Given the description of an element on the screen output the (x, y) to click on. 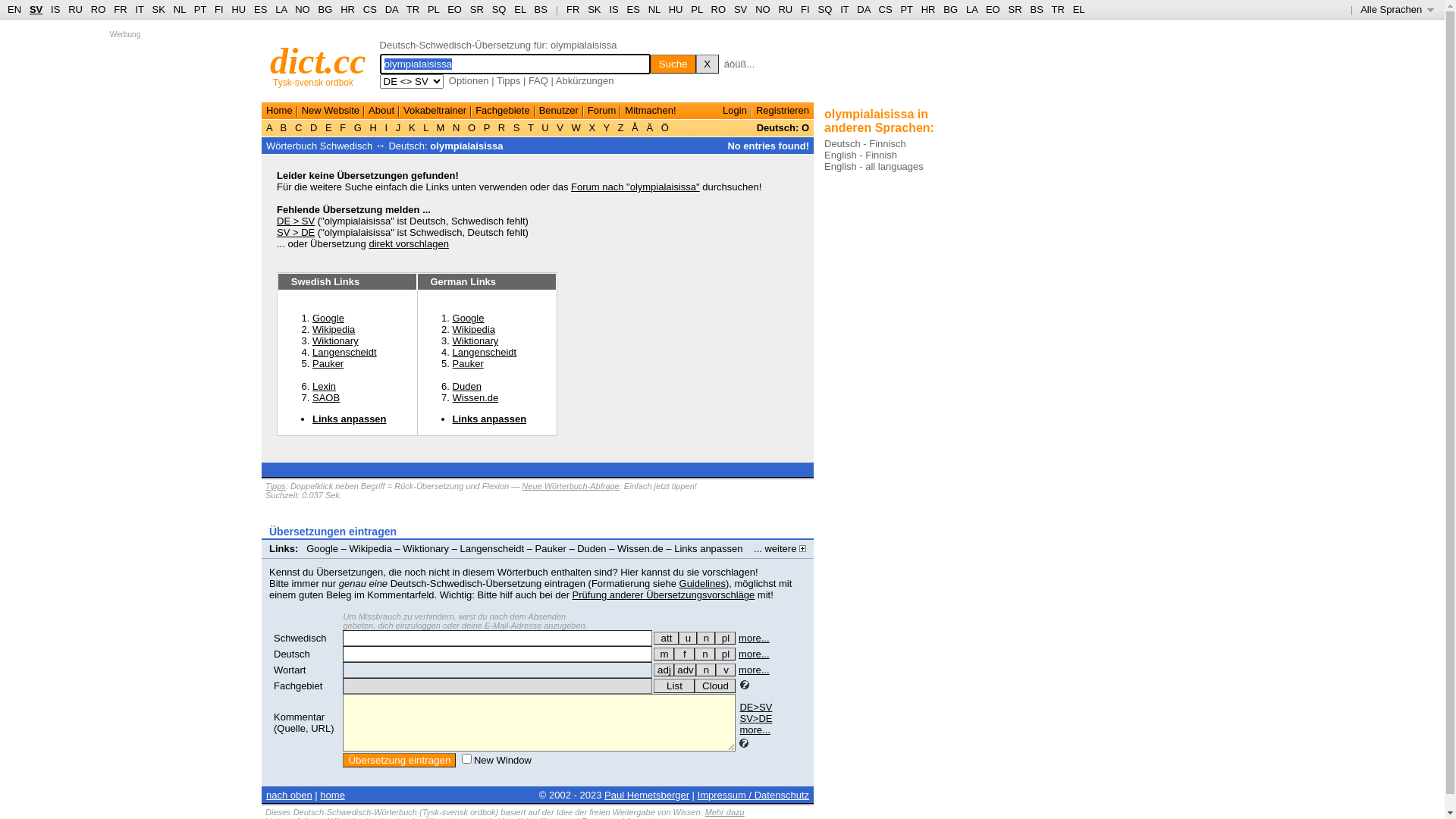
Suche Element type: text (673, 63)
S Element type: text (516, 127)
C Element type: text (297, 127)
Cloud Element type: text (714, 685)
Wiktionary Element type: text (475, 340)
TR Element type: text (1057, 9)
FAQ Element type: text (538, 80)
TR Element type: text (412, 9)
Forum nach "olympialaisissa" Element type: text (635, 186)
Forum Element type: text (601, 110)
utrum Element type: hover (687, 637)
Langenscheidt Element type: text (484, 351)
Y Element type: text (605, 127)
NL Element type: text (654, 9)
HR Element type: text (347, 9)
A Element type: text (270, 127)
SAOB Element type: text (325, 397)
f Element type: text (684, 653)
W Element type: text (575, 127)
home Element type: text (332, 794)
D Element type: text (313, 127)
B Element type: text (283, 127)
Mehr dazu Element type: text (724, 811)
Guidelines Element type: text (702, 583)
Wiktionary Element type: text (425, 548)
SV>DE Element type: text (755, 718)
RU Element type: text (785, 9)
Login Element type: text (734, 110)
R Element type: text (501, 127)
X Element type: text (592, 127)
SV > DE Element type: text (295, 232)
m Element type: text (663, 653)
more... Element type: text (753, 669)
About Element type: text (381, 110)
Tipps Element type: text (508, 80)
NL Element type: text (179, 9)
IS Element type: text (54, 9)
Pauker Element type: text (327, 363)
V Element type: text (560, 127)
neutrum Element type: hover (705, 637)
Impressum / Datenschutz Element type: text (753, 794)
... weitere Element type: text (779, 548)
SV Element type: text (740, 9)
New Website Element type: text (330, 110)
Schwedisch Element type: text (299, 637)
IT Element type: text (844, 9)
Pauker Element type: text (467, 363)
SR Element type: text (1015, 9)
HU Element type: text (675, 9)
Deutsch: O Element type: text (782, 127)
EL Element type: text (1079, 9)
H Element type: text (373, 127)
ES Element type: text (633, 9)
Deutsch Element type: text (291, 653)
Alle Sprachen  Element type: text (1397, 9)
Langenscheidt Element type: text (344, 351)
DE > SV Element type: text (295, 220)
RO Element type: text (718, 9)
PL Element type: text (433, 9)
I Element type: text (386, 127)
v Element type: text (725, 669)
FI Element type: text (218, 9)
Wikipedia Element type: text (370, 548)
U Element type: text (545, 127)
J Element type: text (397, 127)
Home Element type: text (279, 110)
EN Element type: text (14, 9)
SQ Element type: text (499, 9)
ES Element type: text (260, 9)
olympialaisissa Element type: text (465, 145)
more... Element type: text (753, 653)
PL Element type: text (696, 9)
PT Element type: text (200, 9)
DA Element type: text (391, 9)
Wikipedia Element type: text (473, 329)
Fachgebiete Element type: text (502, 110)
Google Element type: text (328, 317)
L Element type: text (425, 127)
F Element type: text (342, 127)
FR Element type: text (119, 9)
Wikipedia Element type: text (333, 329)
direkt vorschlagen Element type: text (408, 243)
Tipps Element type: text (275, 485)
n Element type: text (704, 653)
Paul Hemetsberger Element type: text (646, 794)
Lexin Element type: text (323, 386)
Wissen.de Element type: text (640, 548)
List Element type: text (673, 685)
English - all languages Element type: text (873, 166)
LA Element type: text (971, 9)
die - Mehrzahl (Plural) Element type: hover (725, 653)
BS Element type: text (540, 9)
Links anpassen Element type: text (349, 418)
FR Element type: text (572, 9)
EO Element type: text (454, 9)
M Element type: text (440, 127)
n Element type: text (705, 669)
EL Element type: text (519, 9)
NO Element type: text (302, 9)
N Element type: text (455, 127)
SR Element type: text (476, 9)
pl Element type: text (725, 637)
EO Element type: text (992, 9)
RU Element type: text (75, 9)
Google Element type: text (322, 548)
more... Element type: text (754, 729)
English - Finnish Element type: text (860, 154)
K Element type: text (411, 127)
BS Element type: text (1035, 9)
E Element type: text (328, 127)
X Element type: text (707, 63)
Benutzer Element type: text (558, 110)
Duden Element type: text (591, 548)
die - weiblich (Femininum) Element type: hover (684, 653)
BG Element type: text (950, 9)
FI Element type: text (804, 9)
nach oben Element type: text (289, 794)
CS Element type: text (884, 9)
Registrieren Element type: text (782, 110)
more... Element type: text (753, 637)
O Element type: text (470, 127)
SQ Element type: text (824, 9)
IS Element type: text (613, 9)
Duden Element type: text (466, 386)
NO Element type: text (762, 9)
pl Element type: text (725, 653)
n Element type: text (705, 637)
RO Element type: text (98, 9)
PT Element type: text (906, 9)
Vokabeltrainer Element type: text (434, 110)
T Element type: text (530, 127)
u Element type: text (687, 637)
adv Element type: text (685, 669)
Pauker Element type: text (550, 548)
HU Element type: text (238, 9)
Wiktionary Element type: text (335, 340)
DA Element type: text (862, 9)
G Element type: text (357, 127)
Z Element type: text (620, 127)
dict.cc Element type: text (317, 60)
SK Element type: text (158, 9)
Mitmachen! Element type: text (649, 110)
DE>SV Element type: text (755, 706)
SV Element type: text (35, 9)
plural Element type: hover (725, 637)
Google Element type: text (468, 317)
Langenscheidt Element type: text (492, 548)
Links anpassen Element type: text (489, 418)
att Element type: text (665, 637)
CS Element type: text (369, 9)
adj Element type: text (663, 669)
Optionen Element type: text (468, 80)
IT Element type: text (138, 9)
Wissen.de Element type: text (475, 397)
Links anpassen Element type: text (708, 548)
BG Element type: text (325, 9)
HR Element type: text (928, 9)
SK Element type: text (593, 9)
Deutsch - Finnisch Element type: text (865, 143)
P Element type: text (486, 127)
LA Element type: text (280, 9)
